Given the description of an element on the screen output the (x, y) to click on. 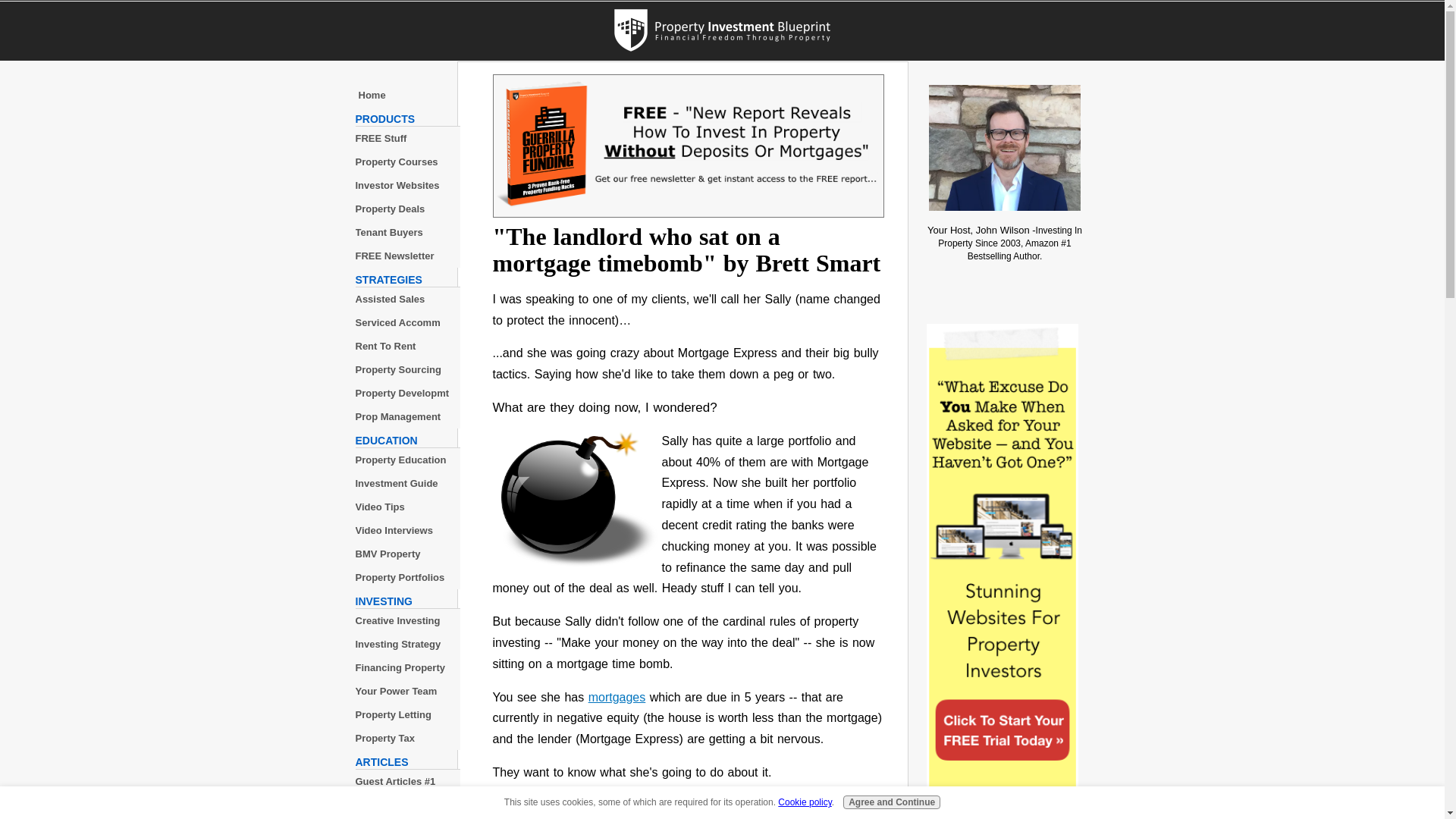
Property Sourcing (407, 369)
Overseas Articles (407, 817)
FREE Newsletter (407, 255)
Property Letting (407, 714)
Prop Management (407, 416)
Serviced Accomm (407, 322)
Assisted Sales (407, 299)
mortgages (617, 697)
Video Tips (407, 506)
Financing Property (407, 667)
